Given the description of an element on the screen output the (x, y) to click on. 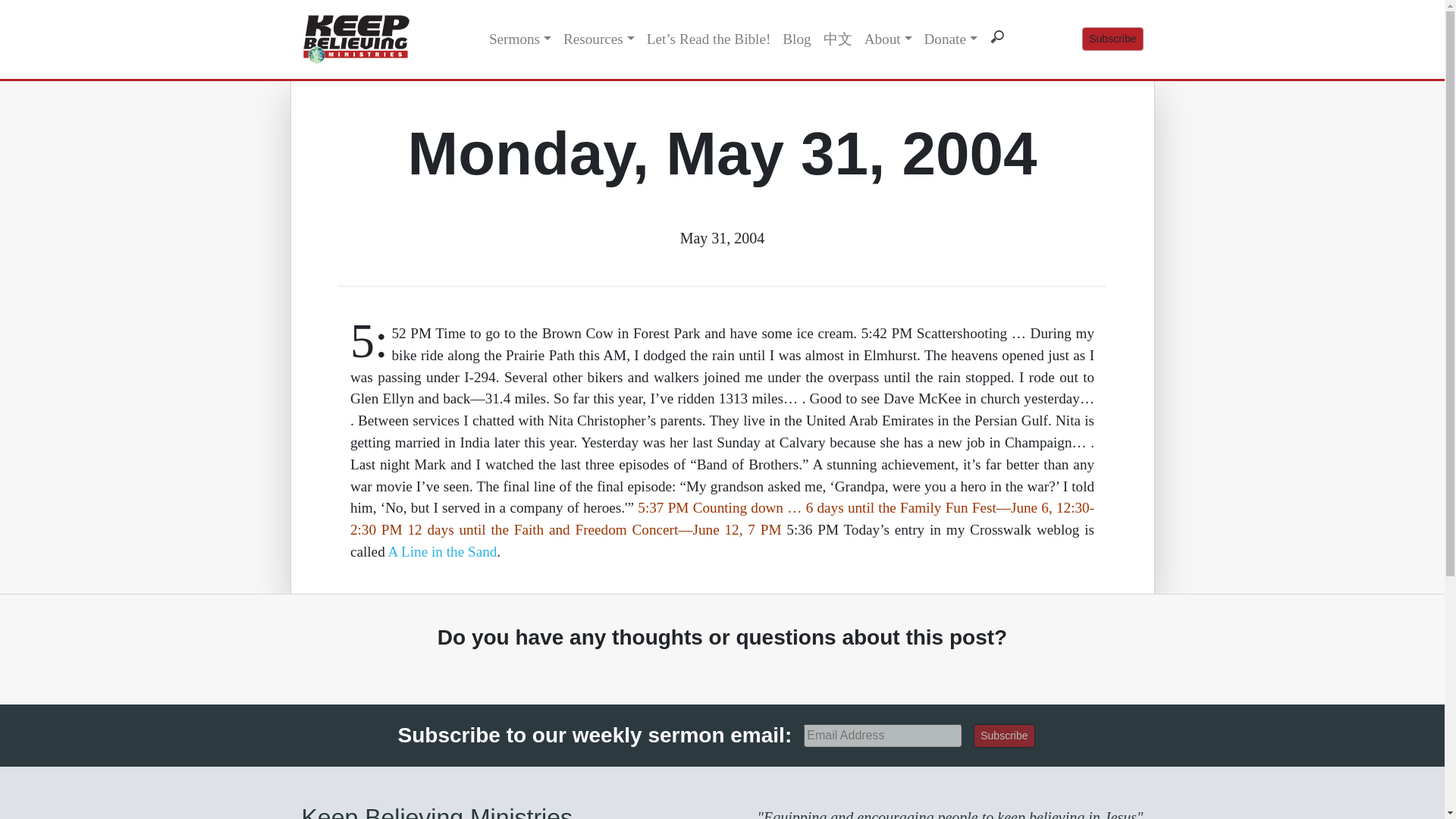
About (888, 39)
Blog (796, 39)
Resources (598, 39)
Resources (598, 39)
Blog (796, 39)
A Line in the Sand (441, 551)
Donate (949, 39)
Subscribe (1003, 735)
Sermons (520, 39)
Sermons (520, 39)
Subscribe (1111, 38)
About (888, 39)
